Given the description of an element on the screen output the (x, y) to click on. 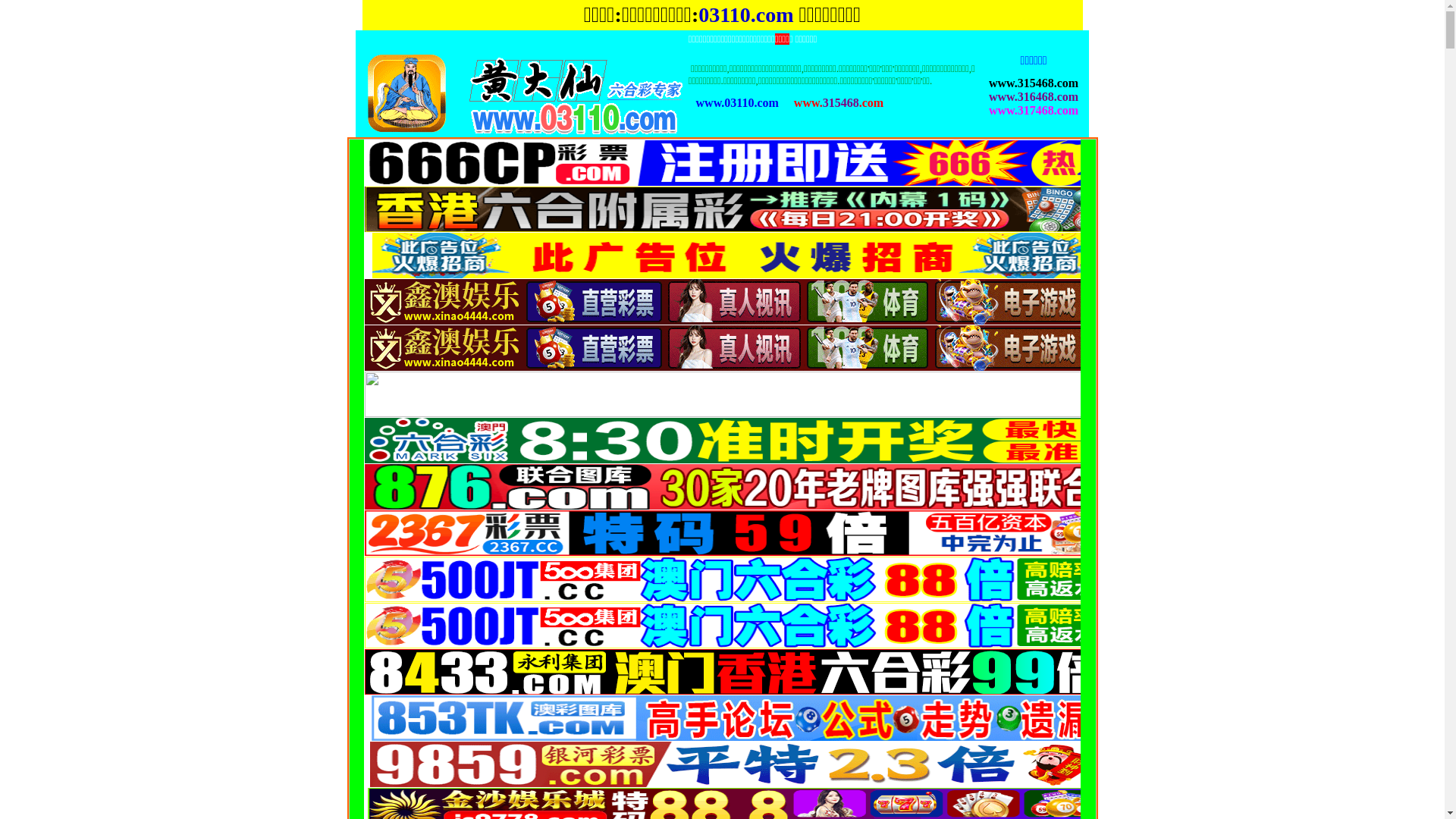
03110 Element type: text (723, 14)
.com Element type: text (771, 14)
www.03110.com Element type: text (737, 102)
